Given the description of an element on the screen output the (x, y) to click on. 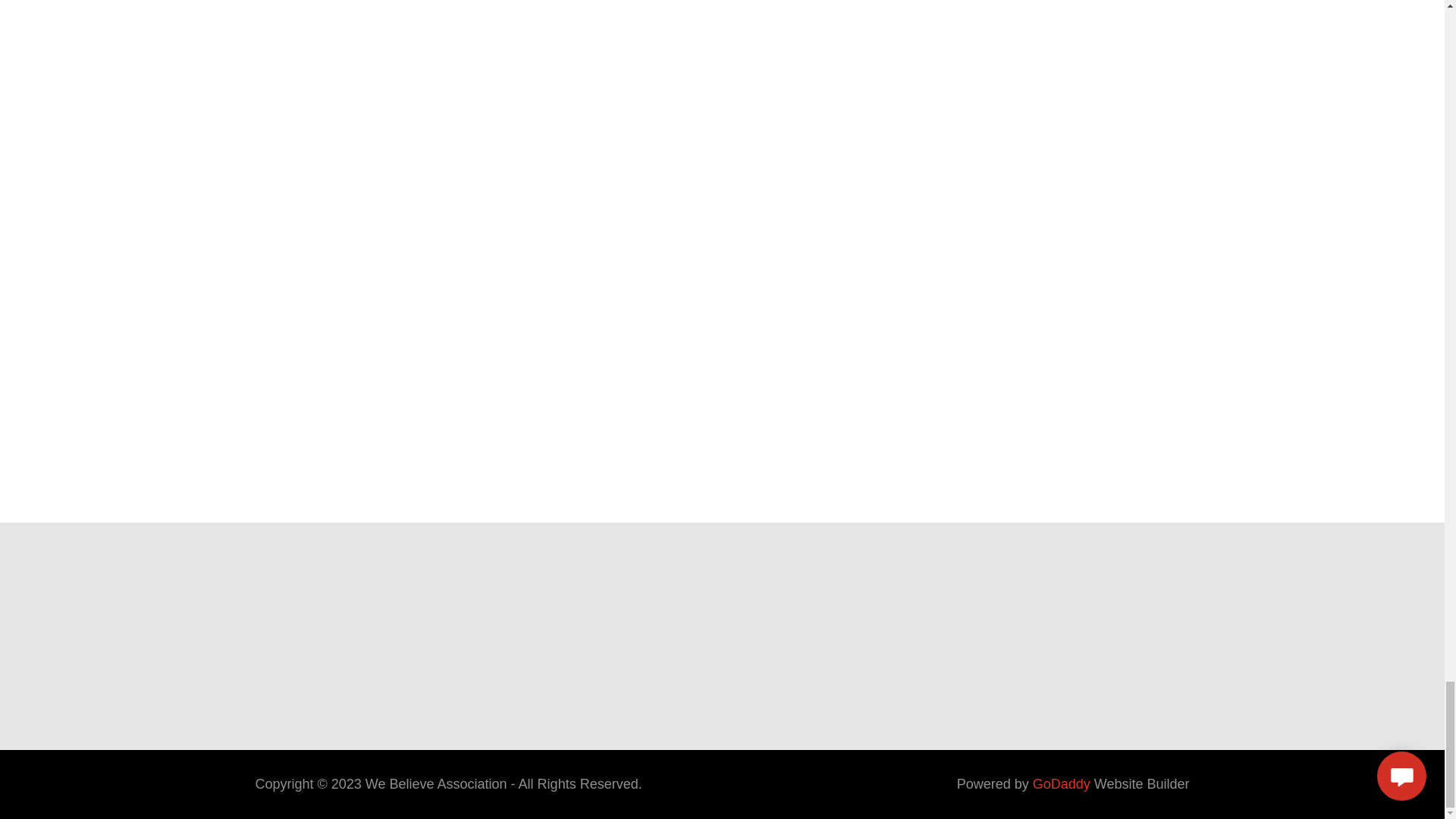
GoDaddy (1061, 783)
